Given the description of an element on the screen output the (x, y) to click on. 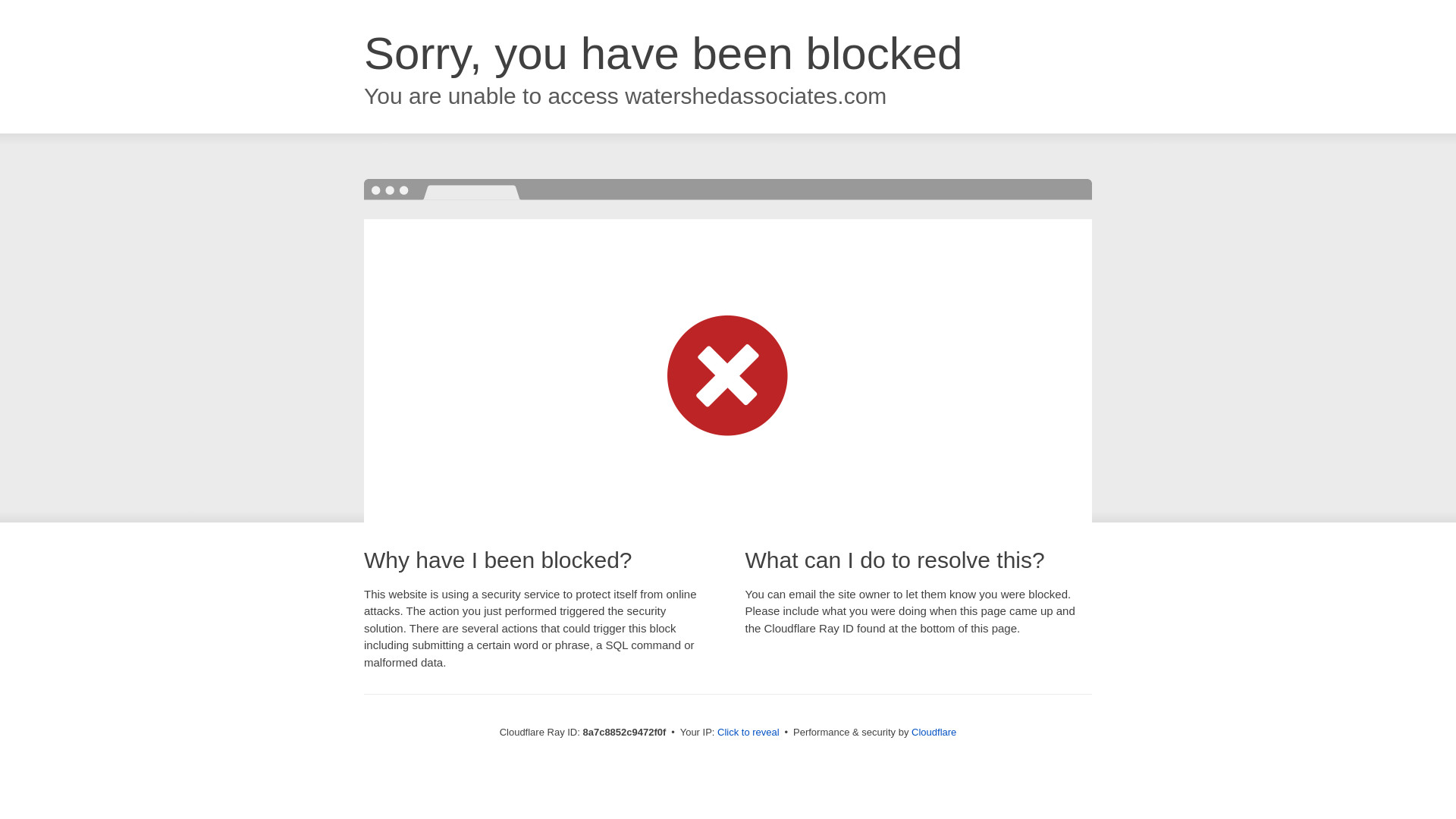
Click to reveal (747, 732)
Cloudflare (933, 731)
